Given the description of an element on the screen output the (x, y) to click on. 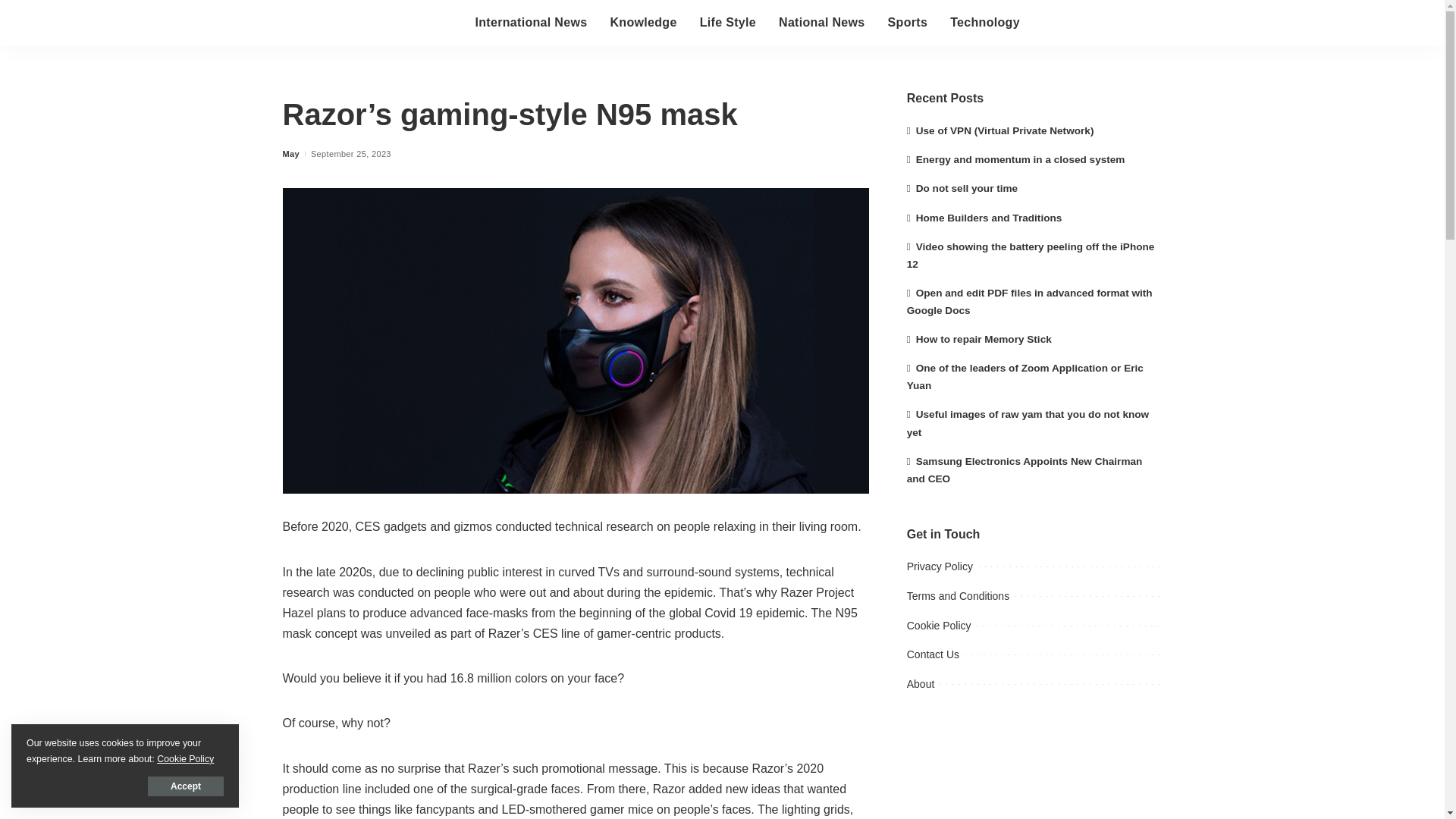
International News (530, 22)
National News (821, 22)
Life Style (727, 22)
Energy and momentum in a closed system (1016, 159)
Cookie Policy (939, 625)
Knowledge (642, 22)
Cele City (366, 22)
How to repair Memory Stick (979, 338)
Do not sell your time (962, 188)
Useful images of raw yam that you do not know yet (1027, 422)
